Given the description of an element on the screen output the (x, y) to click on. 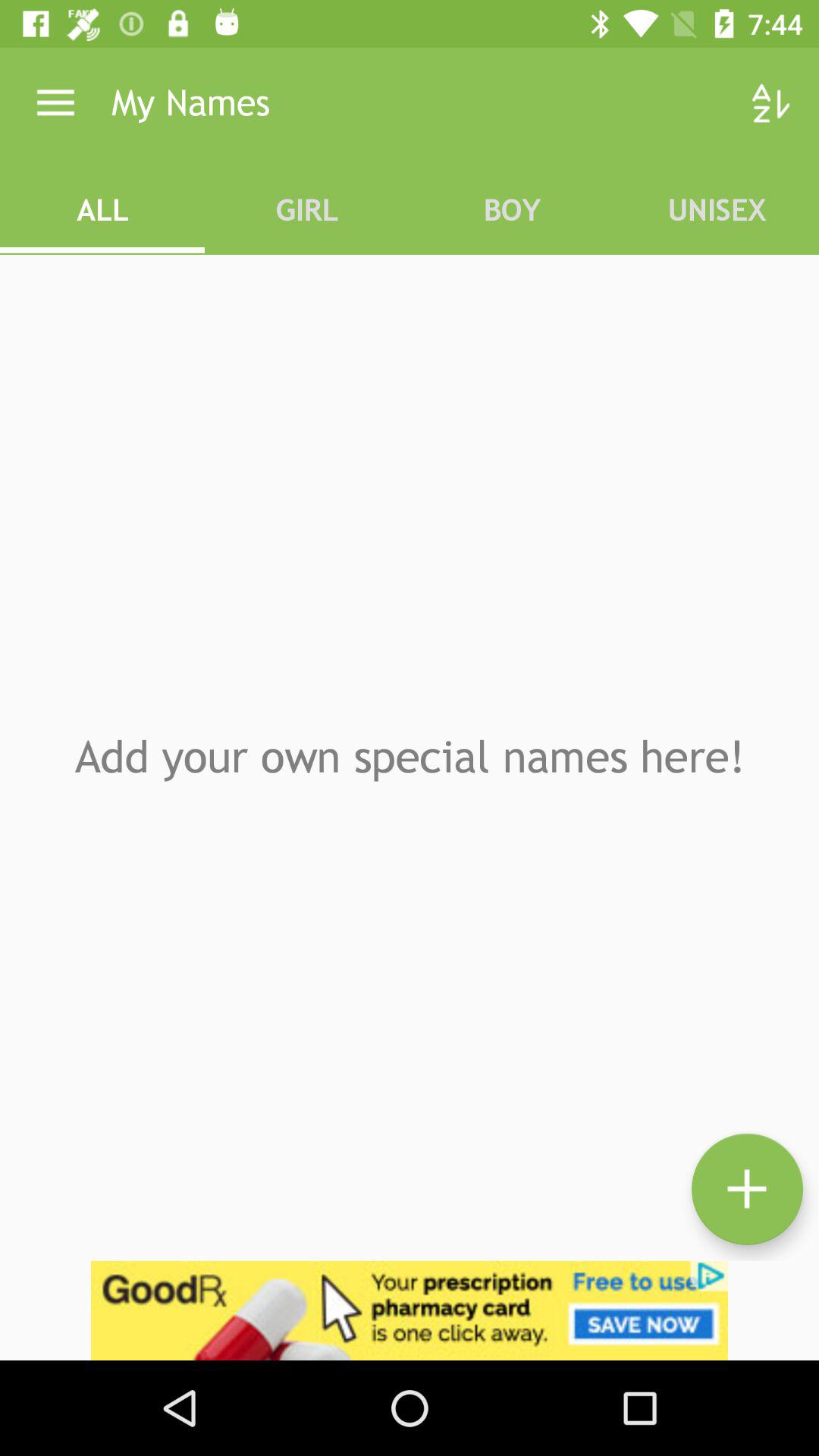
open advertisement (409, 1310)
